Given the description of an element on the screen output the (x, y) to click on. 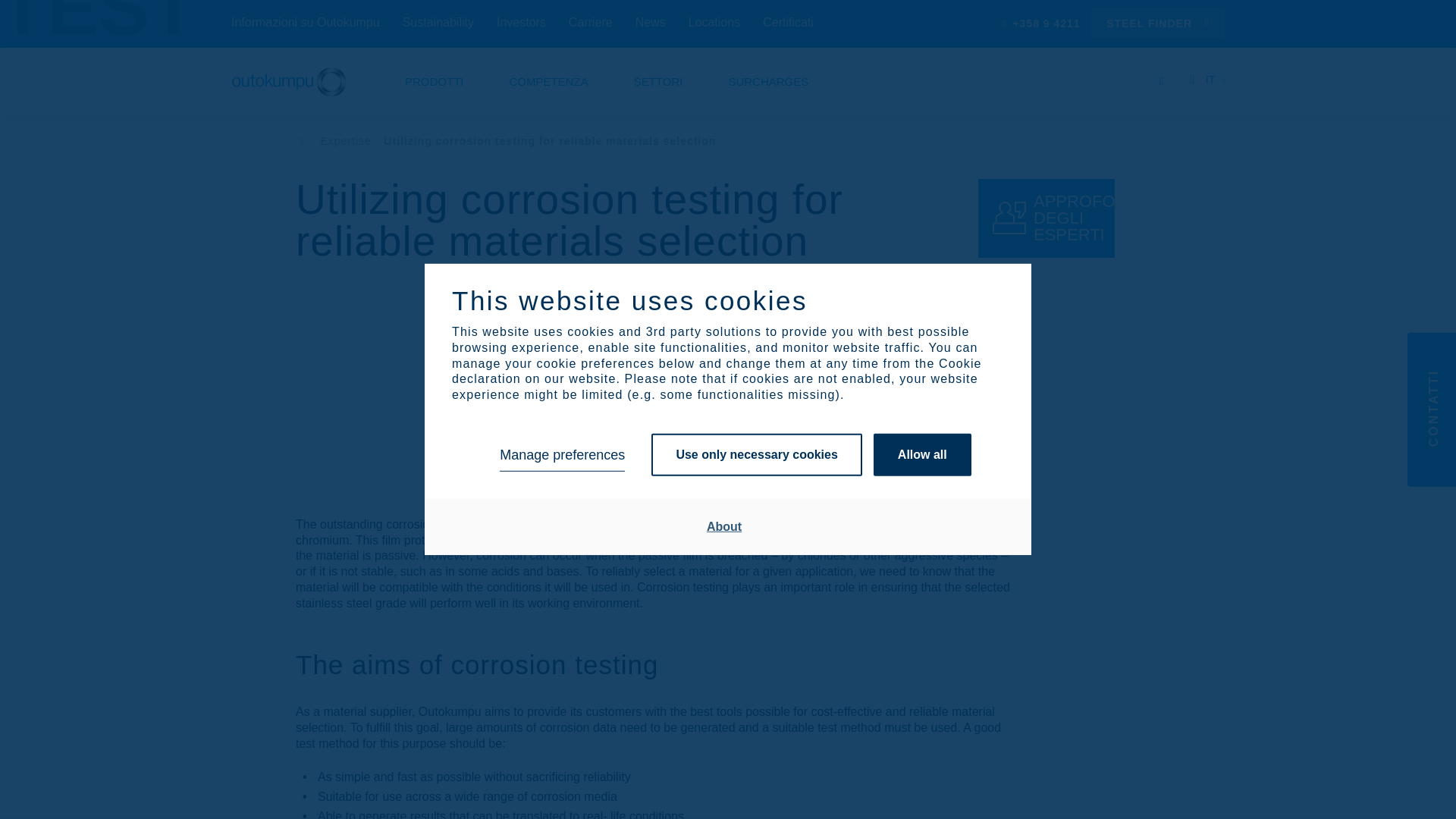
About (724, 526)
Manage preferences (561, 454)
Use only necessary cookies (755, 454)
Allow all (922, 454)
